Given the description of an element on the screen output the (x, y) to click on. 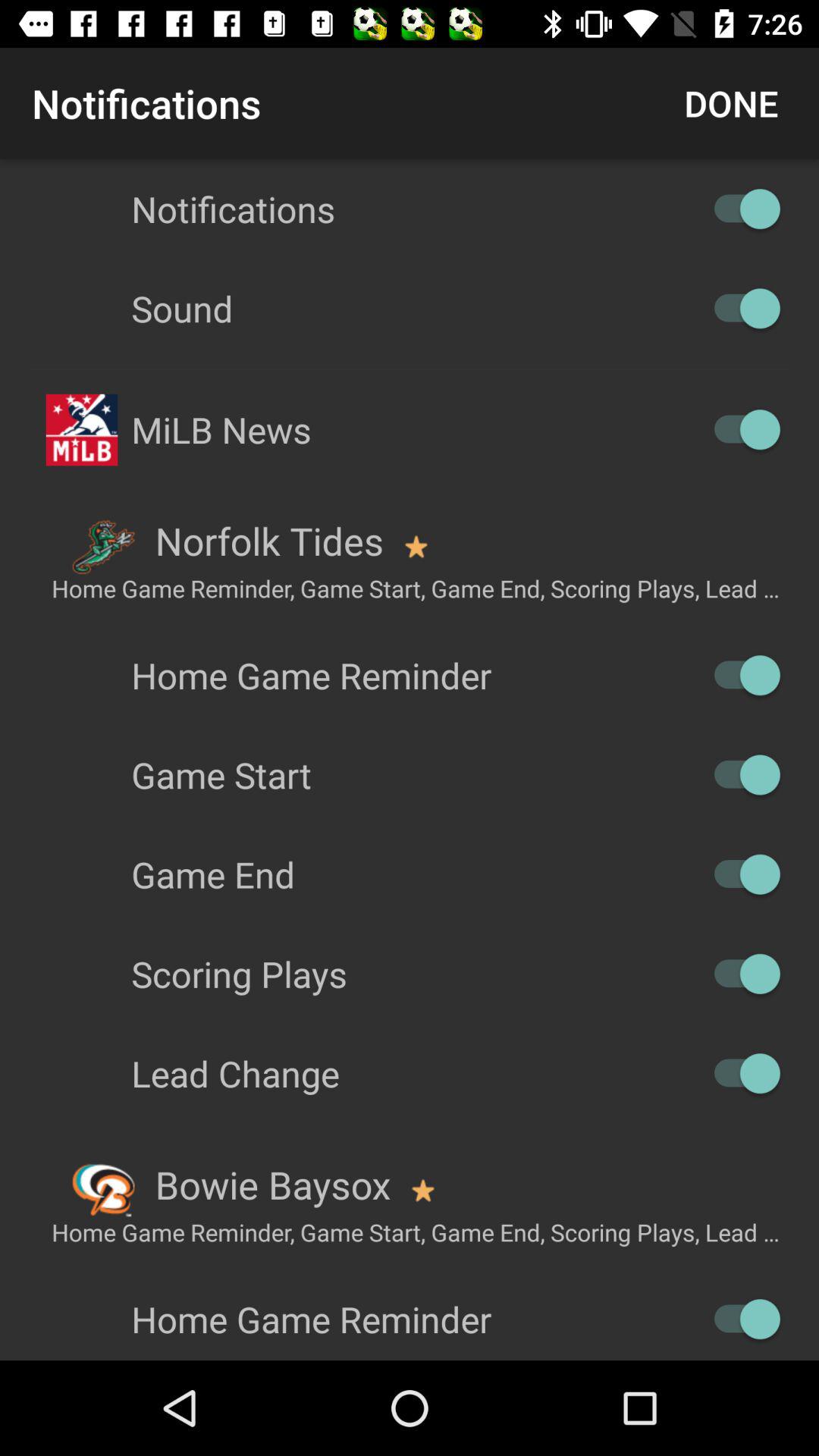
toggle game end option (739, 874)
